Given the description of an element on the screen output the (x, y) to click on. 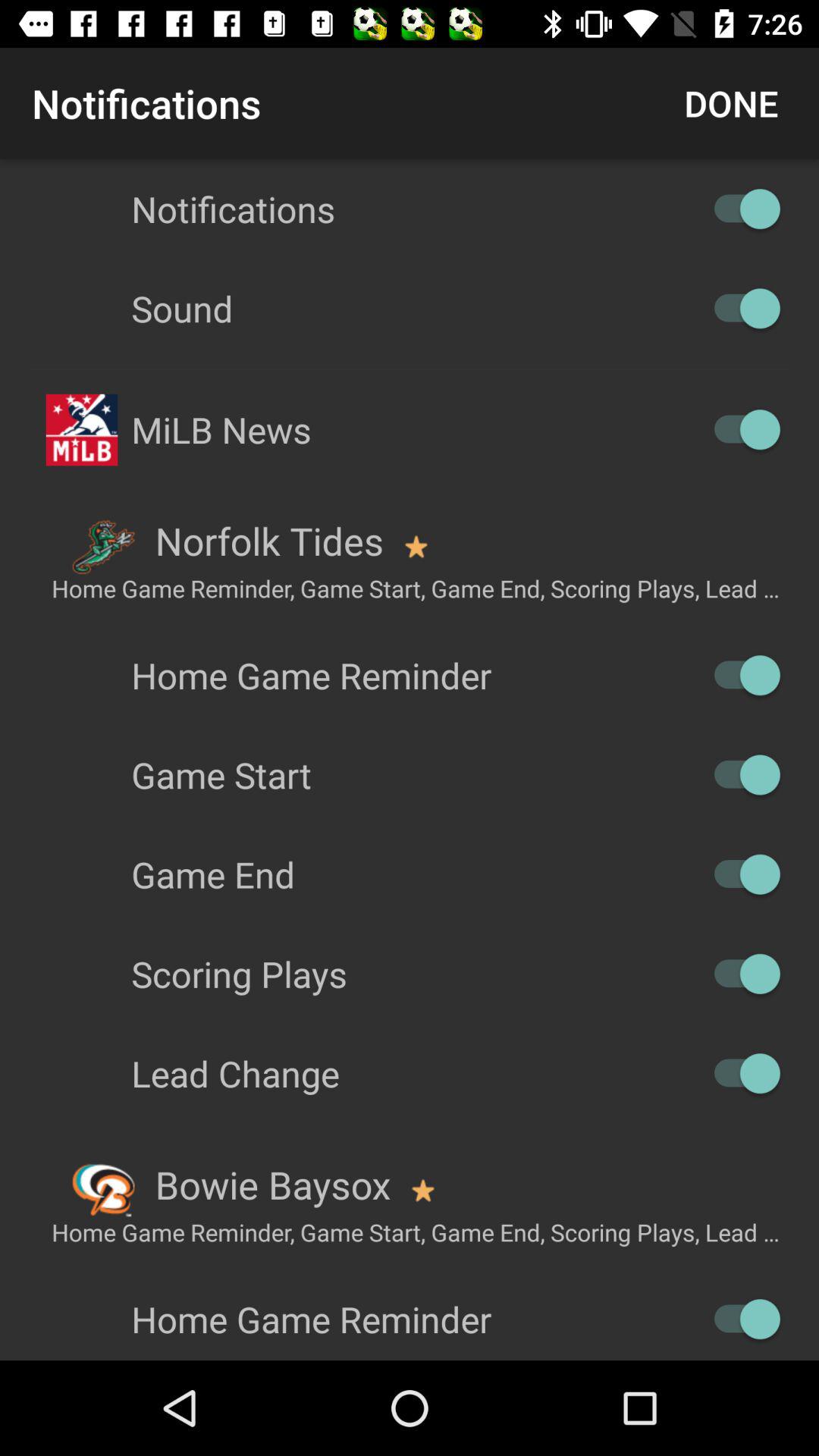
toggle game end option (739, 874)
